Given the description of an element on the screen output the (x, y) to click on. 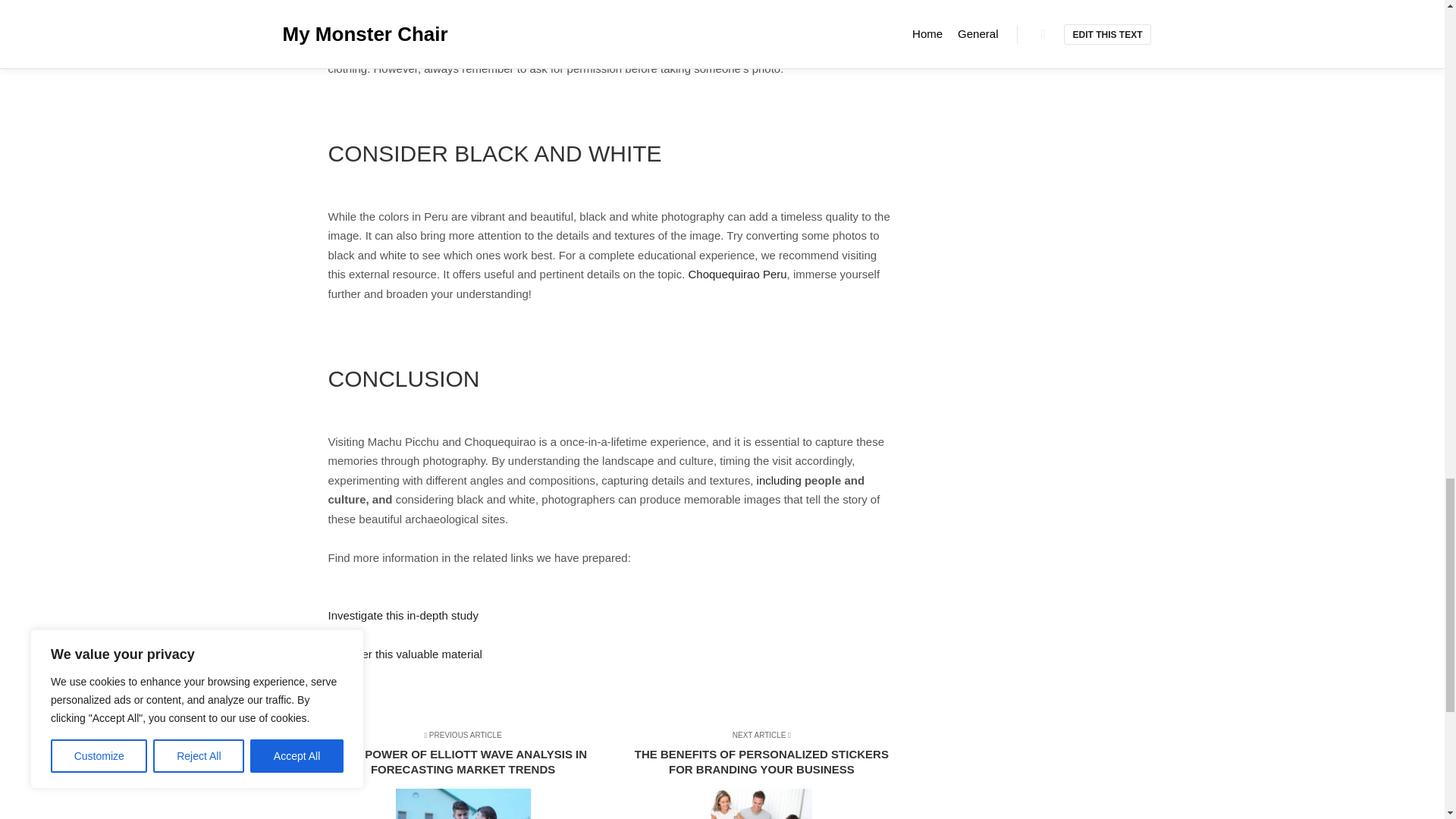
Discover this valuable material (404, 653)
including (779, 480)
Choquequirao Peru (737, 273)
Investigate this in-depth study (402, 615)
